Given the description of an element on the screen output the (x, y) to click on. 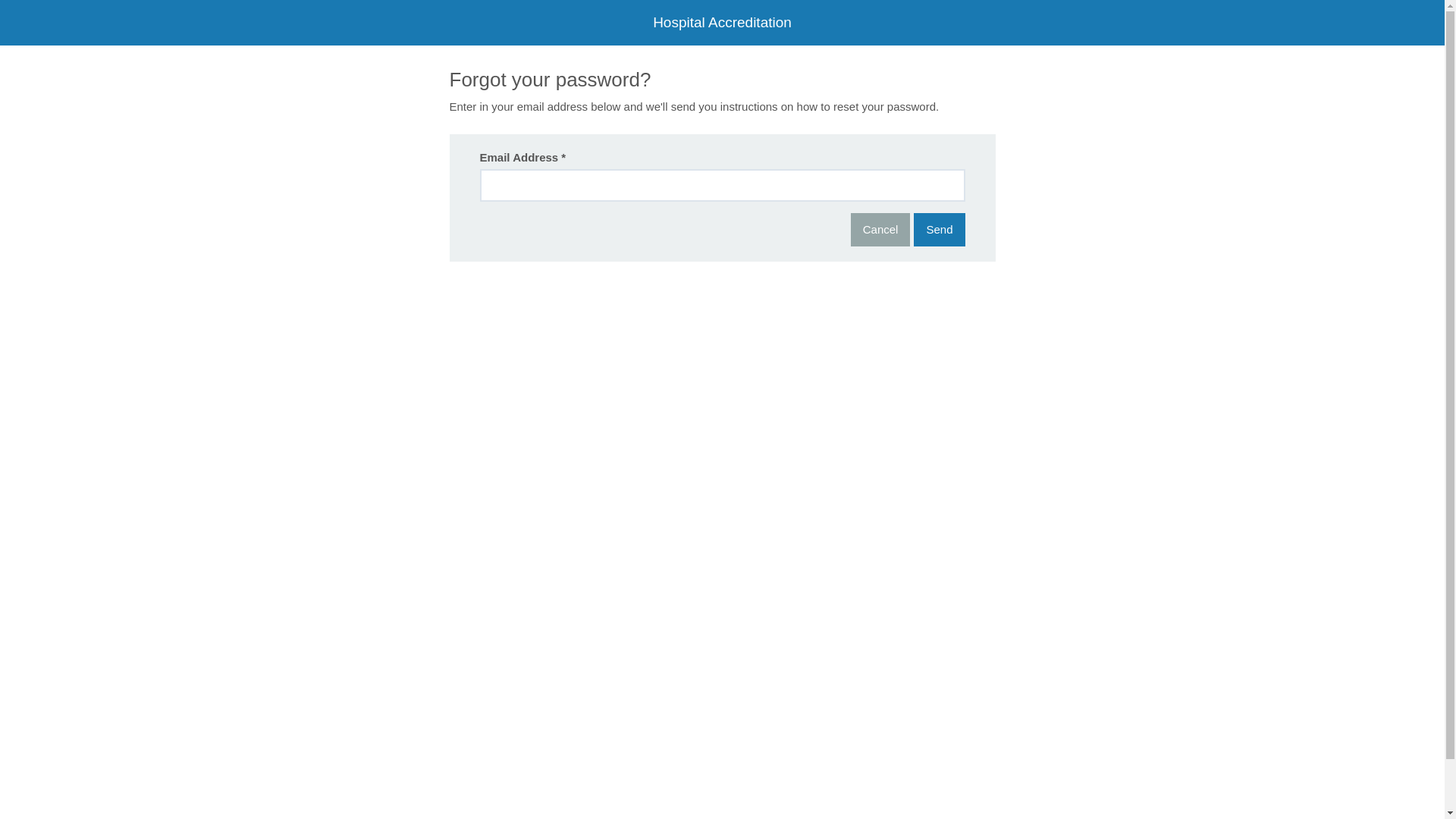
Cancel Element type: text (880, 229)
Hospital Accreditation Element type: text (722, 22)
Send Element type: text (938, 229)
